Given the description of an element on the screen output the (x, y) to click on. 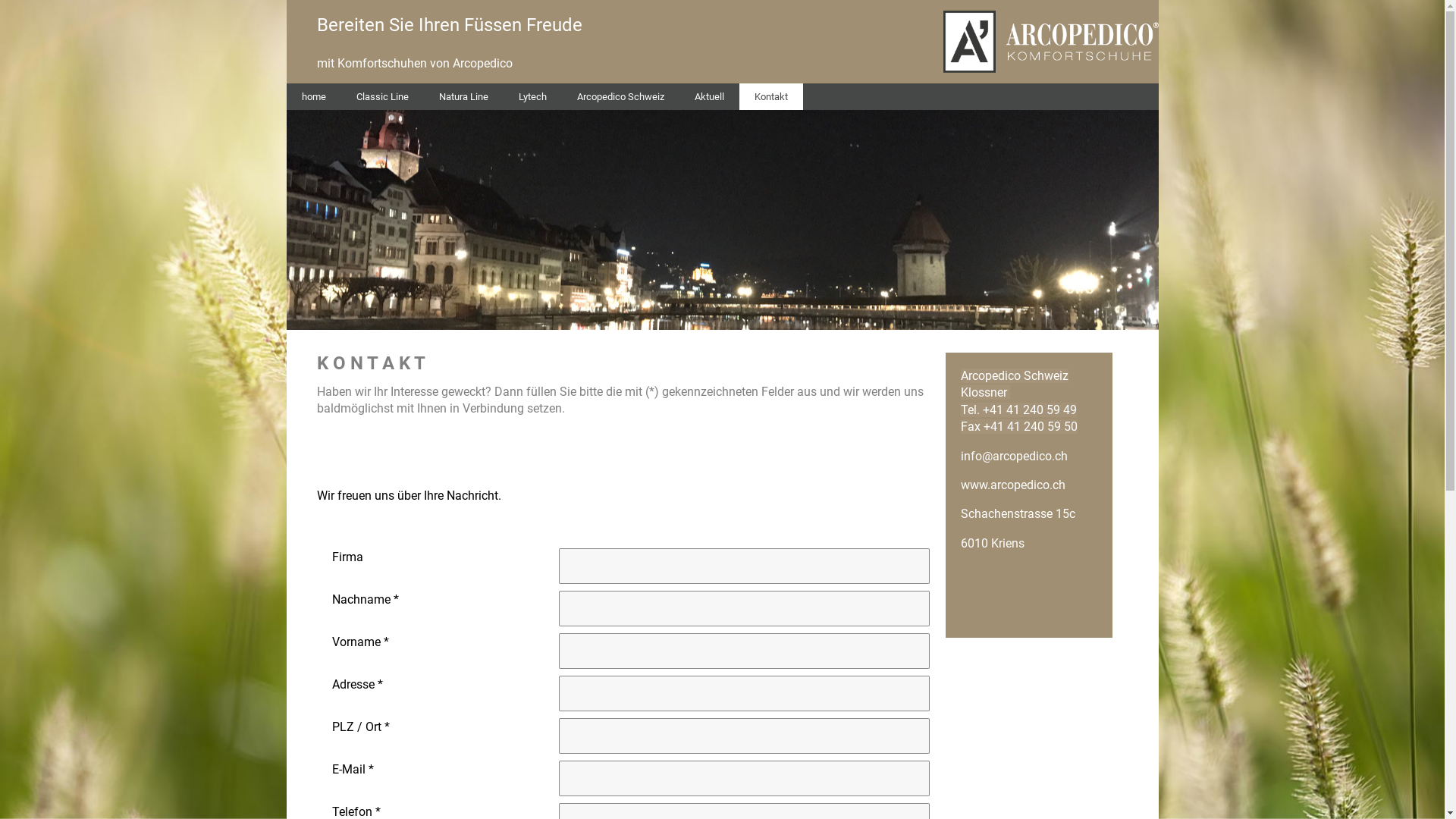
Classic Line Element type: text (382, 96)
Arcopedico Schweiz Element type: text (619, 96)
Aktuell Element type: text (709, 96)
Kontakt Element type: text (770, 96)
Natura Line Element type: text (462, 96)
home Element type: text (313, 96)
Lytech Element type: text (532, 96)
